Given the description of an element on the screen output the (x, y) to click on. 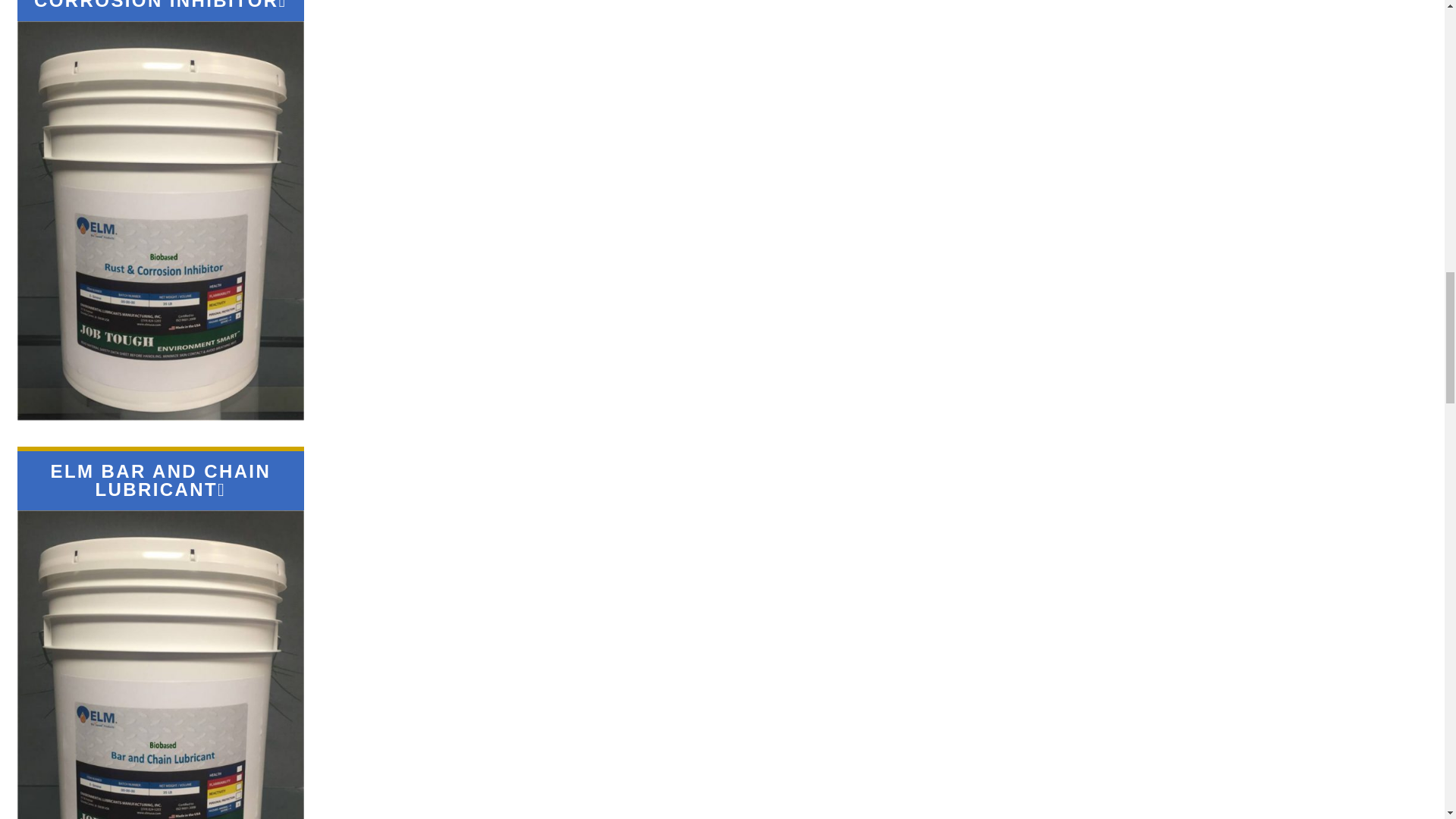
ELM BAR AND CHAIN LUBRICANT (160, 480)
ELM RUST AND CORROSION INHIBITOR (156, 5)
